Given the description of an element on the screen output the (x, y) to click on. 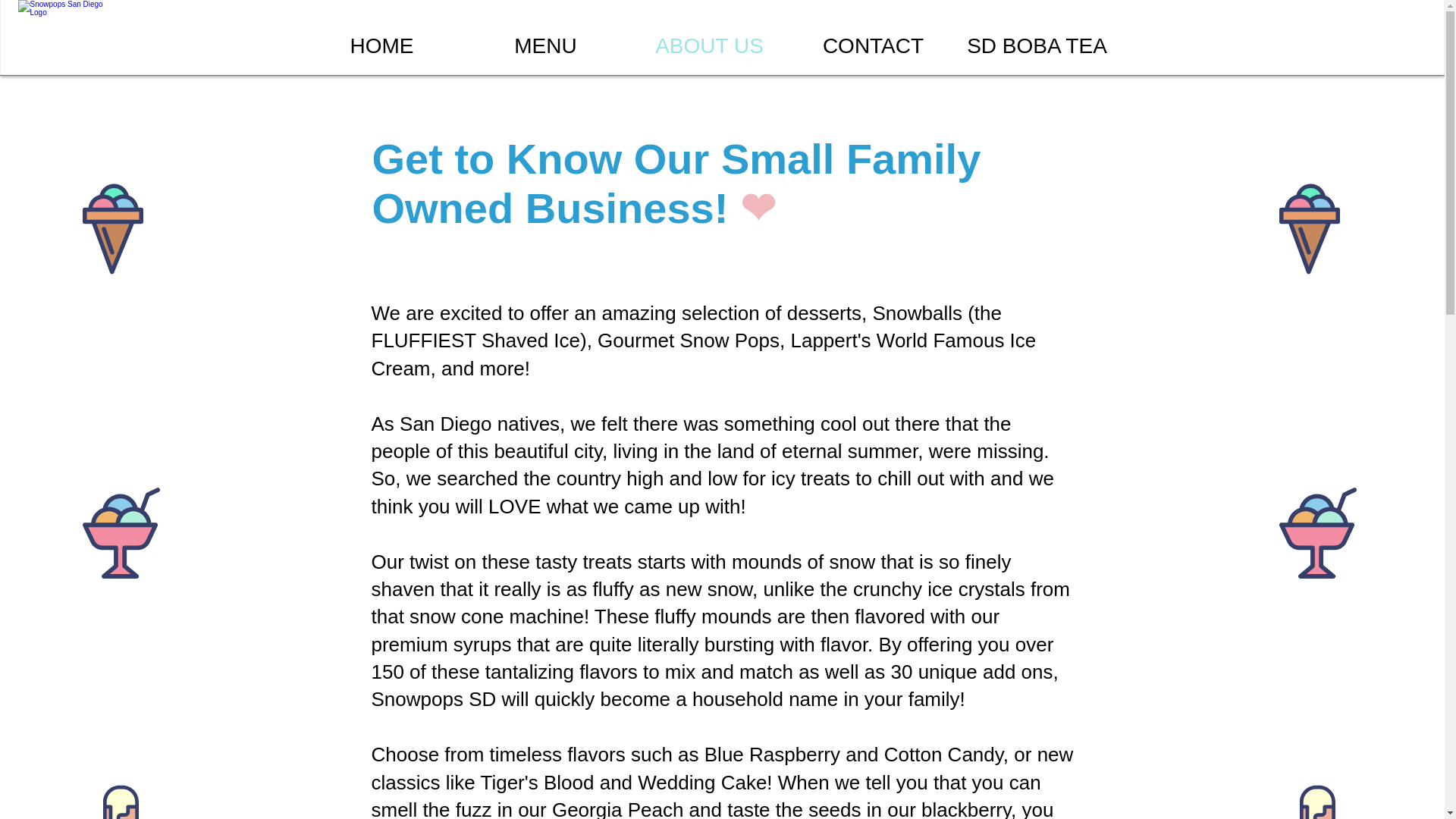
MENU (545, 45)
HOME (381, 45)
SD BOBA TEA (1037, 45)
ABOUT US (709, 45)
CONTACT (873, 45)
